Given the description of an element on the screen output the (x, y) to click on. 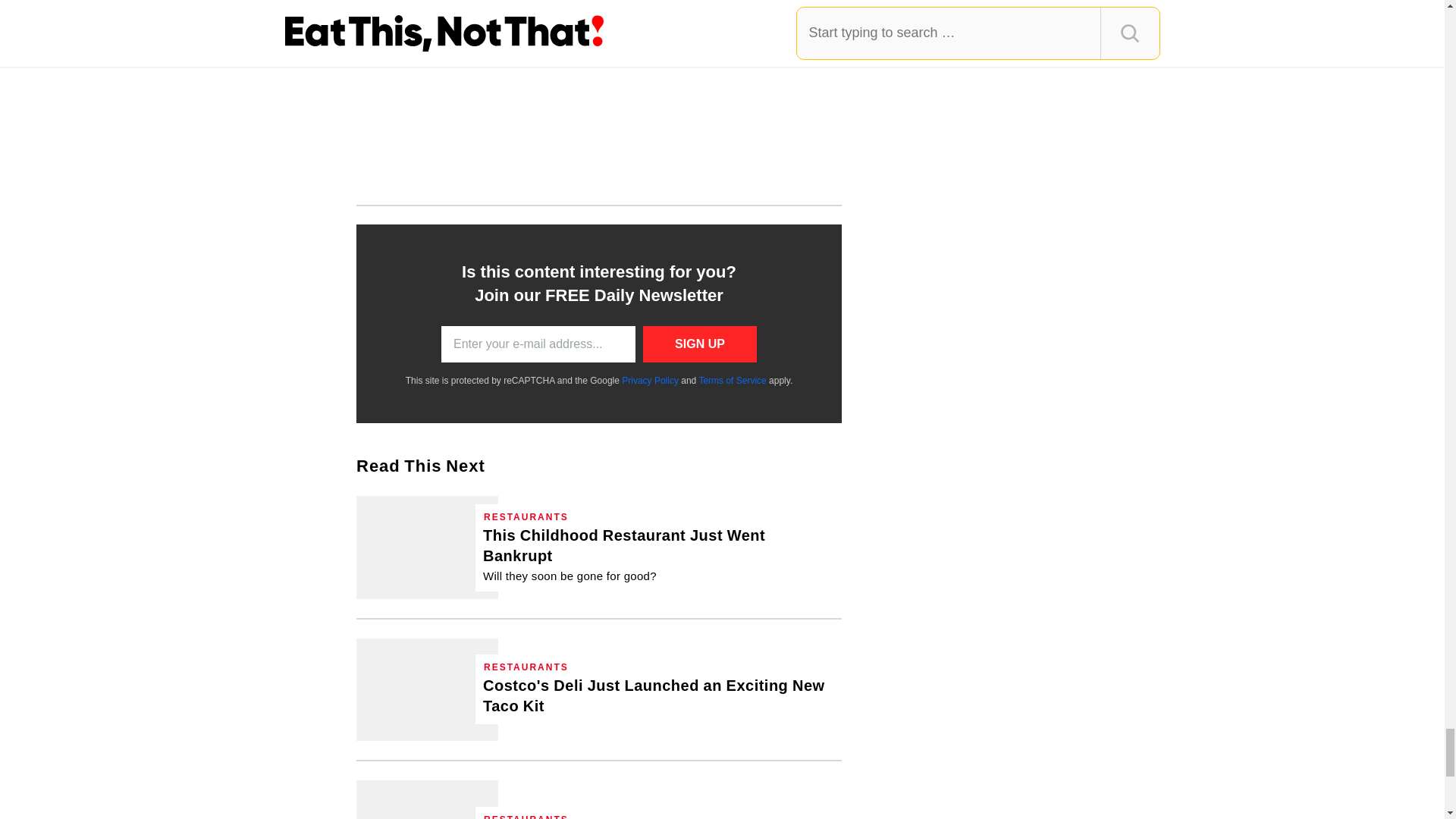
Costco's Deli Just Launched an Exciting New Taco Kit (658, 695)
Costco's Deli Just Launched an Exciting New Taco Kit (426, 689)
